Given the description of an element on the screen output the (x, y) to click on. 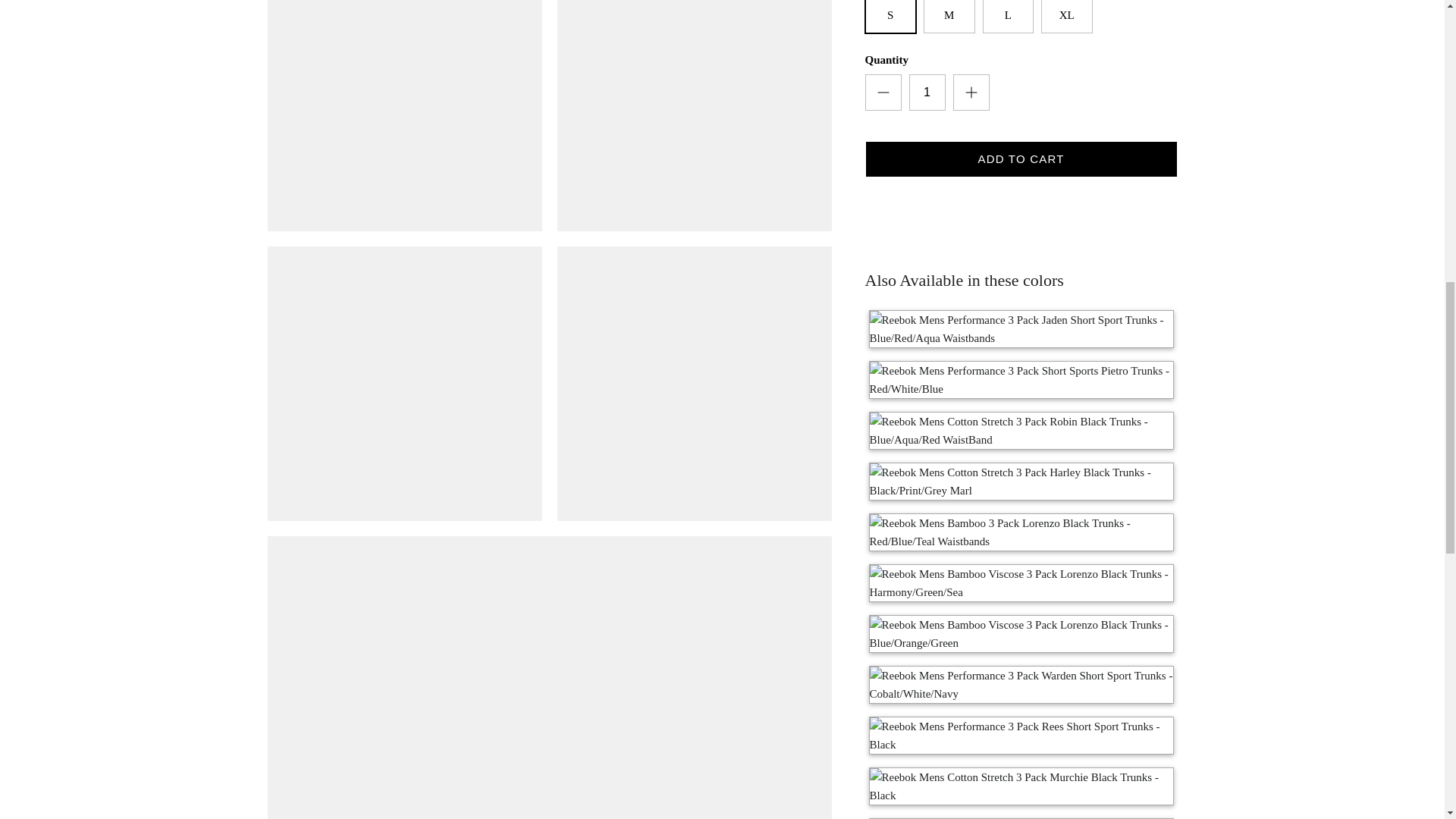
 Black (1021, 400)
 Black (1021, 298)
 Black (1021, 349)
